Given the description of an element on the screen output the (x, y) to click on. 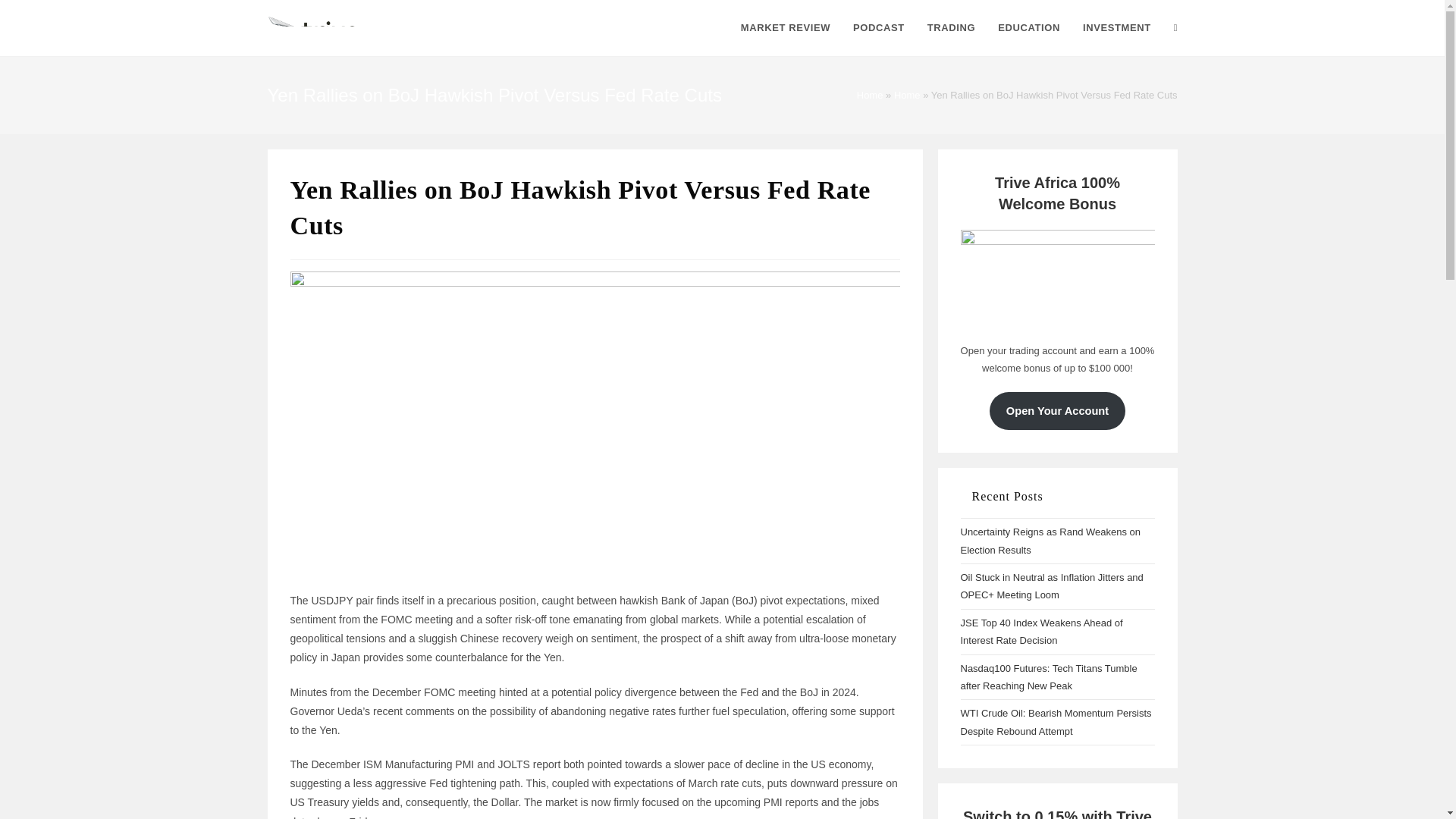
JSE Top 40 Index Weakens Ahead of Interest Rate Decision (1040, 631)
Home (870, 94)
Home (906, 94)
TRADING (951, 28)
MARKET REVIEW (785, 28)
PODCAST (878, 28)
EDUCATION (1029, 28)
Uncertainty Reigns as Rand Weakens on Election Results (1049, 540)
Open Your Account (1057, 410)
